Given the description of an element on the screen output the (x, y) to click on. 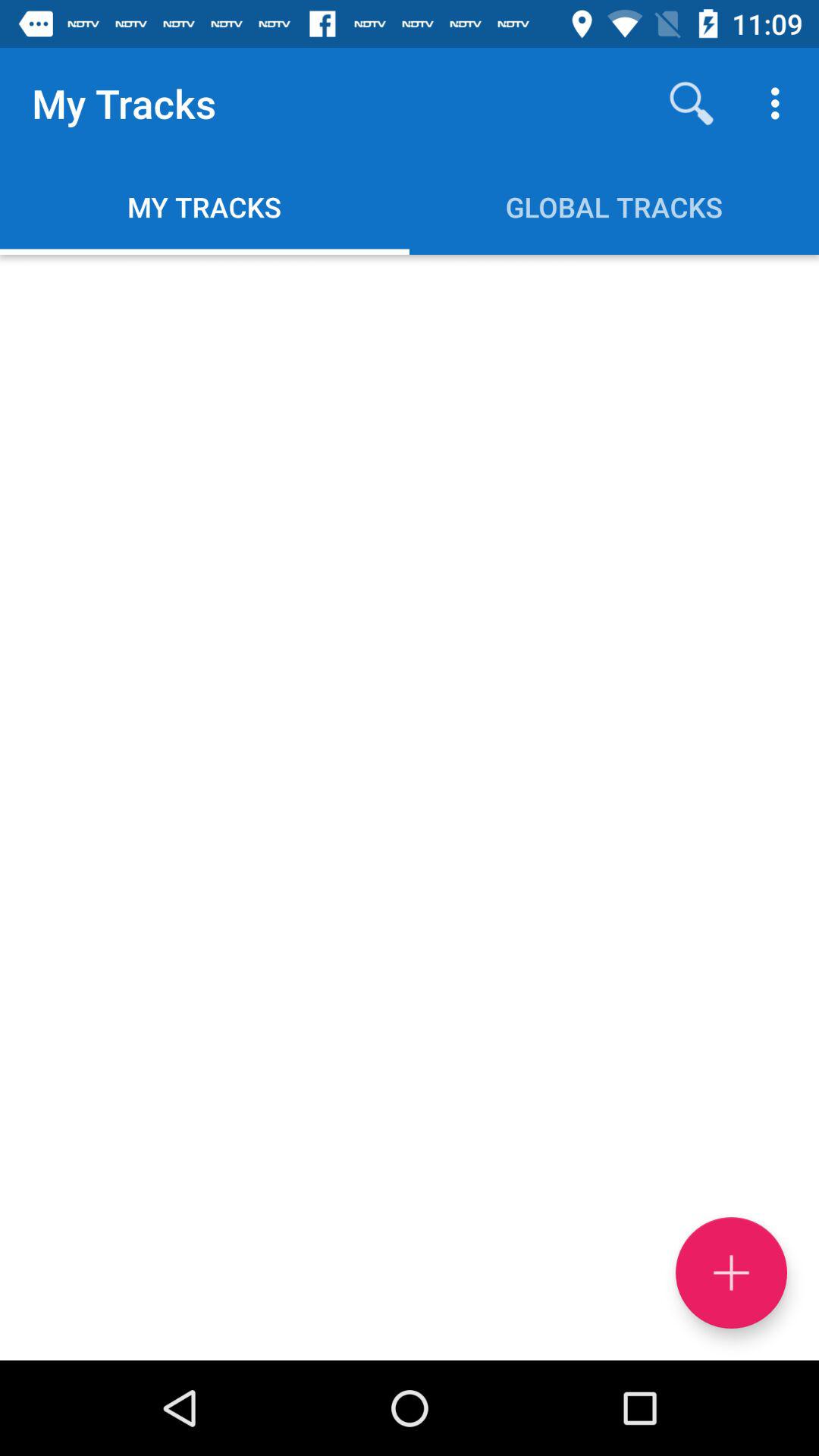
launch app to the right of the my tracks app (691, 103)
